Given the description of an element on the screen output the (x, y) to click on. 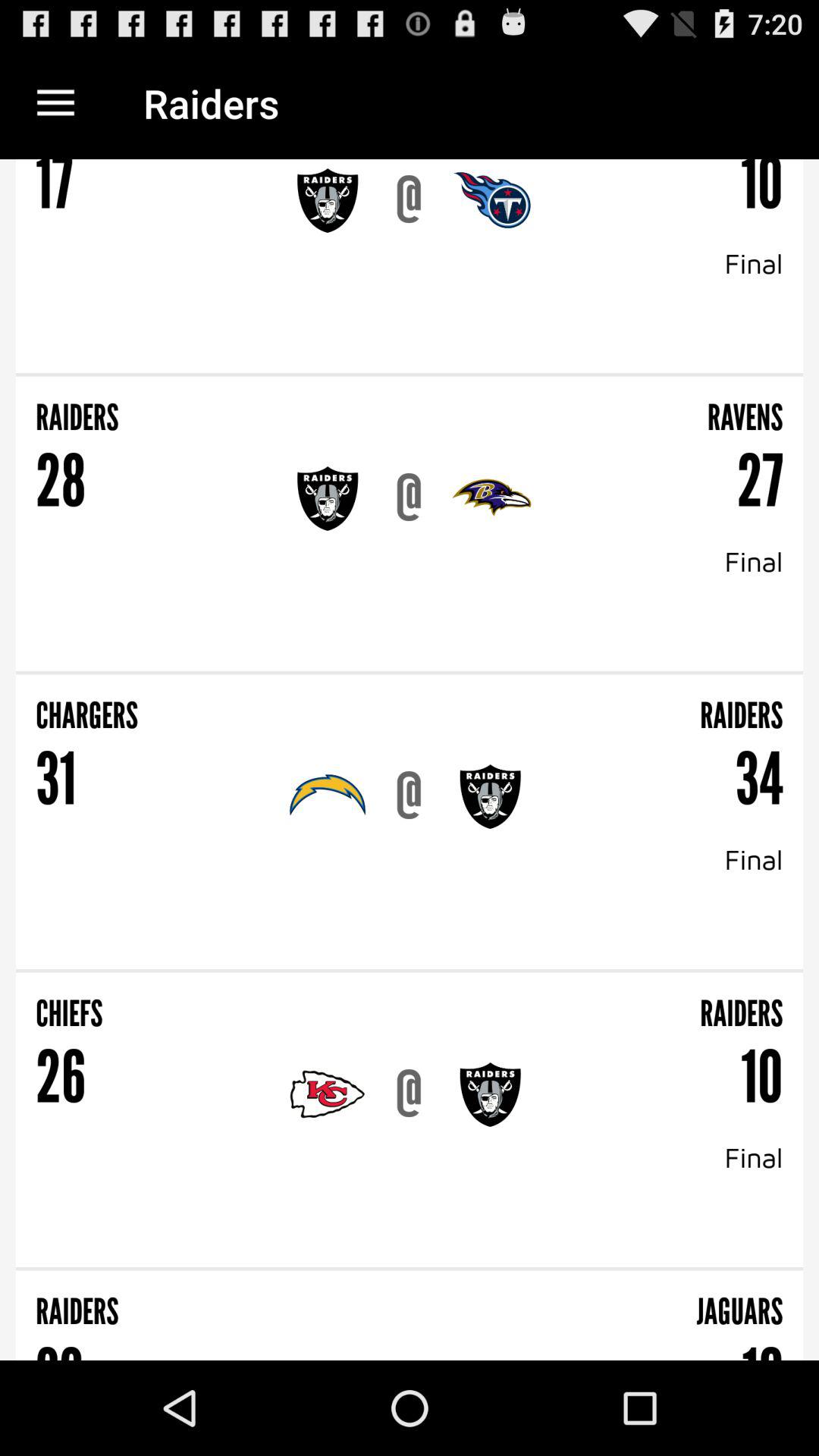
choose jaguars item (595, 1301)
